Given the description of an element on the screen output the (x, y) to click on. 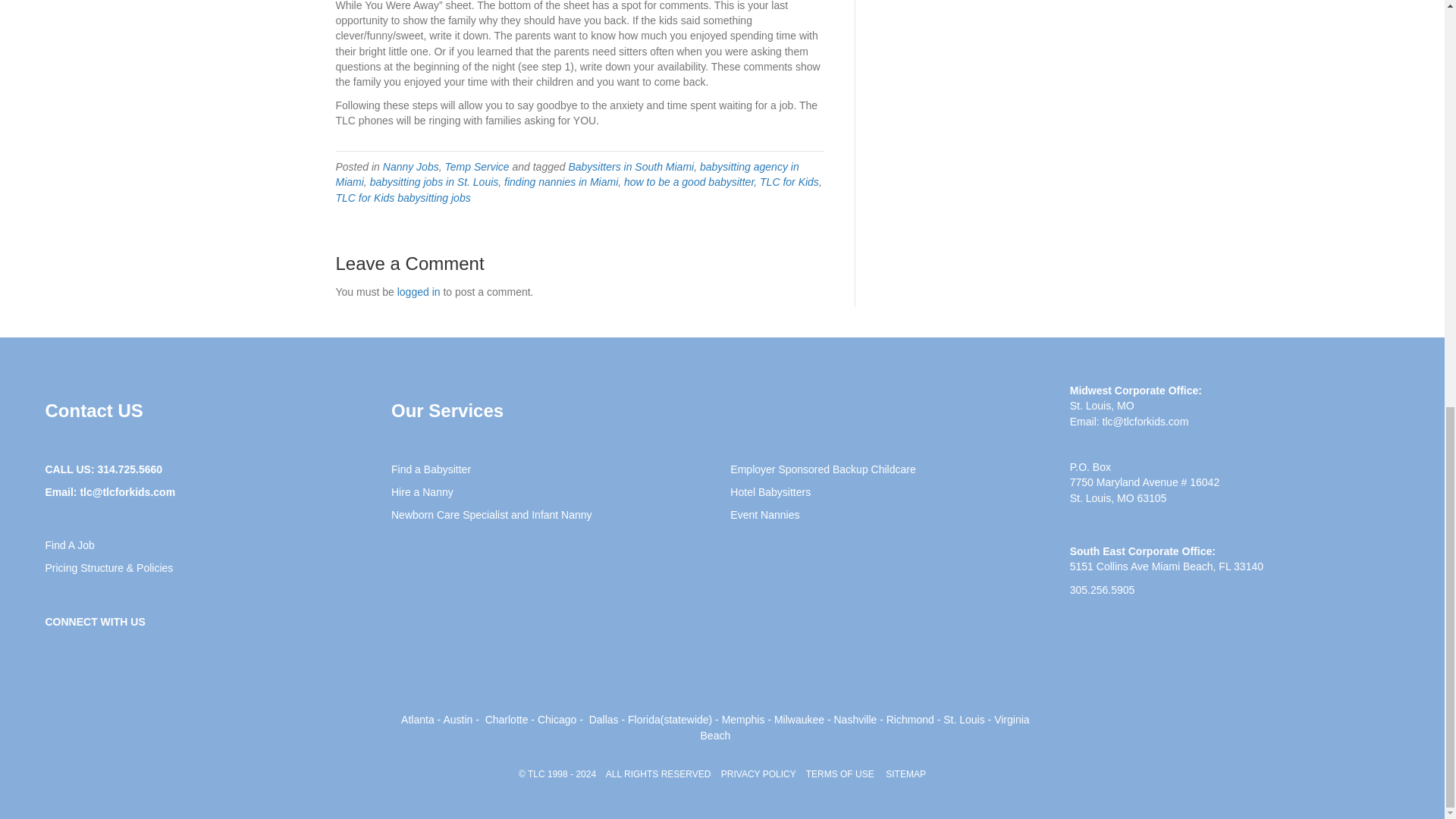
finding nannies in Miami (560, 182)
Contact US (93, 410)
logged in (419, 291)
how to be a good babysitter (689, 182)
Nanny Jobs (410, 166)
babysitting agency in Miami (565, 174)
babysitting jobs in St. Louis (434, 182)
TLC for Kids (789, 182)
Temp Service (476, 166)
314.725.5660 (129, 469)
